Given the description of an element on the screen output the (x, y) to click on. 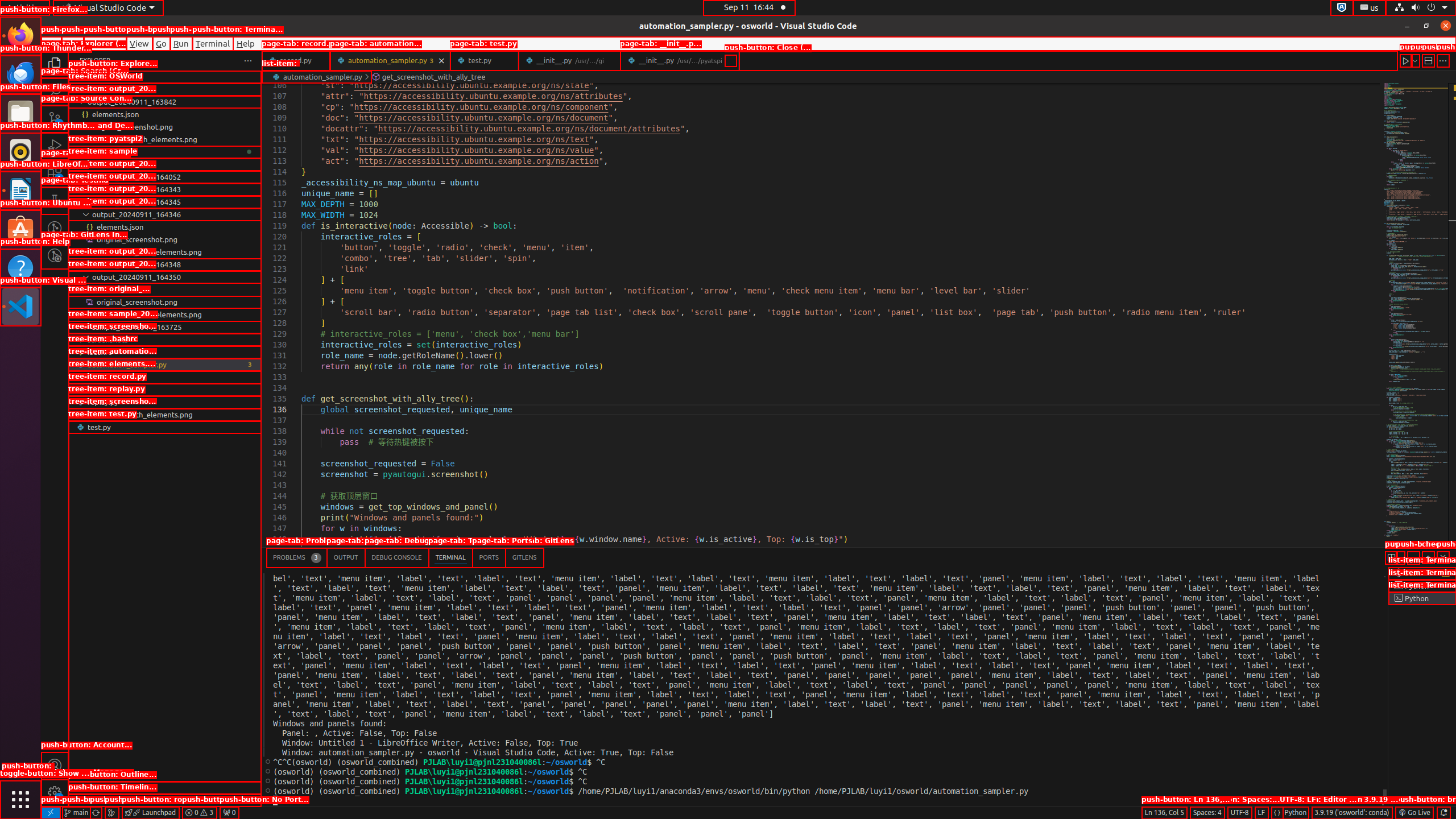
automation_sampler.py Element type: tree-item (164, 364)
Selection Element type: push-button (104, 43)
Search (Ctrl+Shift+F) Element type: page-tab (54, 91)
View Element type: push-button (139, 43)
